Given the description of an element on the screen output the (x, y) to click on. 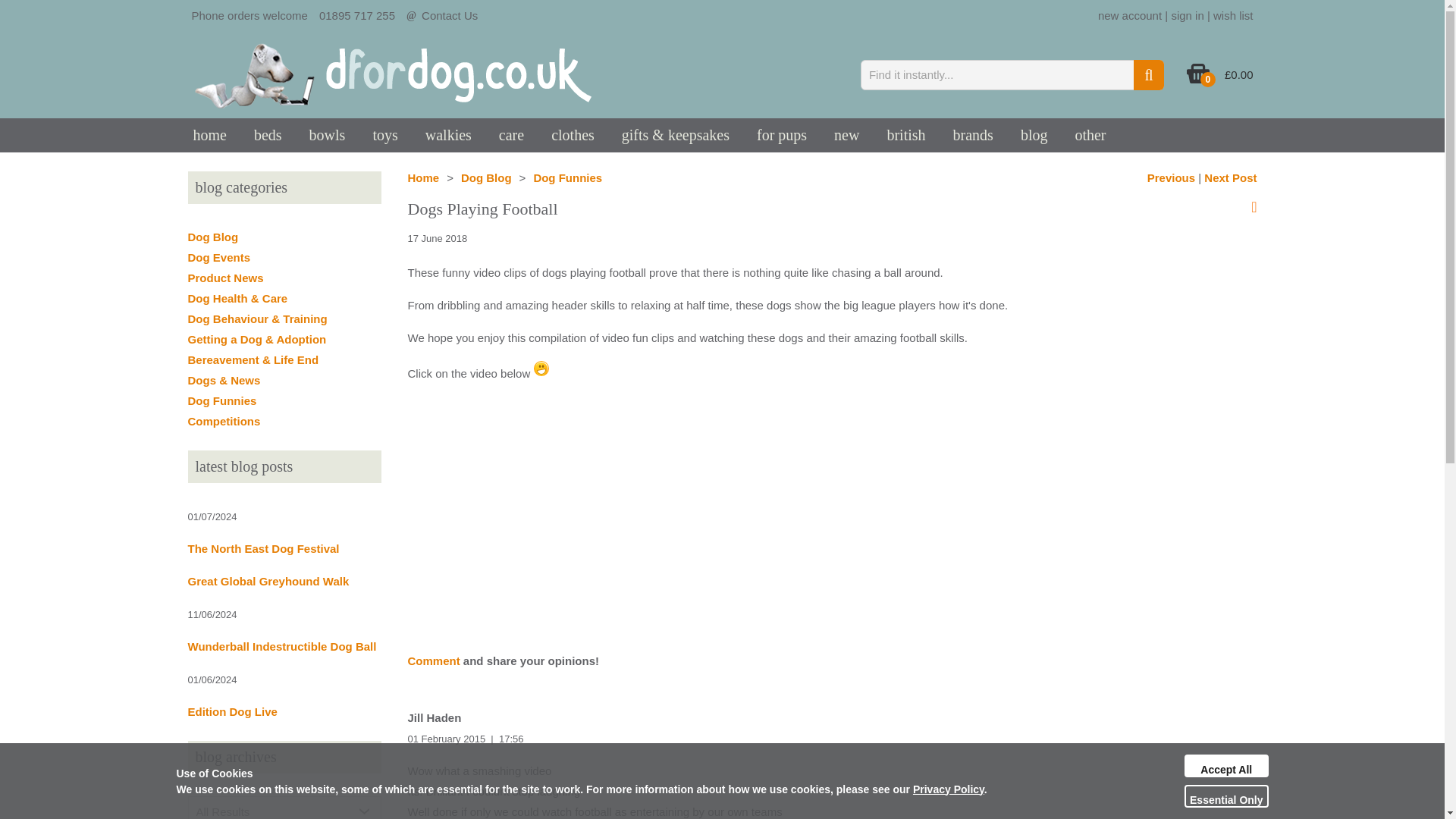
beds (267, 134)
Contact Us (449, 15)
home (209, 134)
toys (384, 134)
The Pet Show (1171, 177)
wish list (1232, 15)
sign in (1187, 15)
bowls (327, 134)
01895 717 255 (356, 15)
laugh (541, 368)
Search (1148, 73)
0 (1197, 80)
PDSA World Cup Sweepstake (1230, 177)
new account (1129, 15)
